Given the description of an element on the screen output the (x, y) to click on. 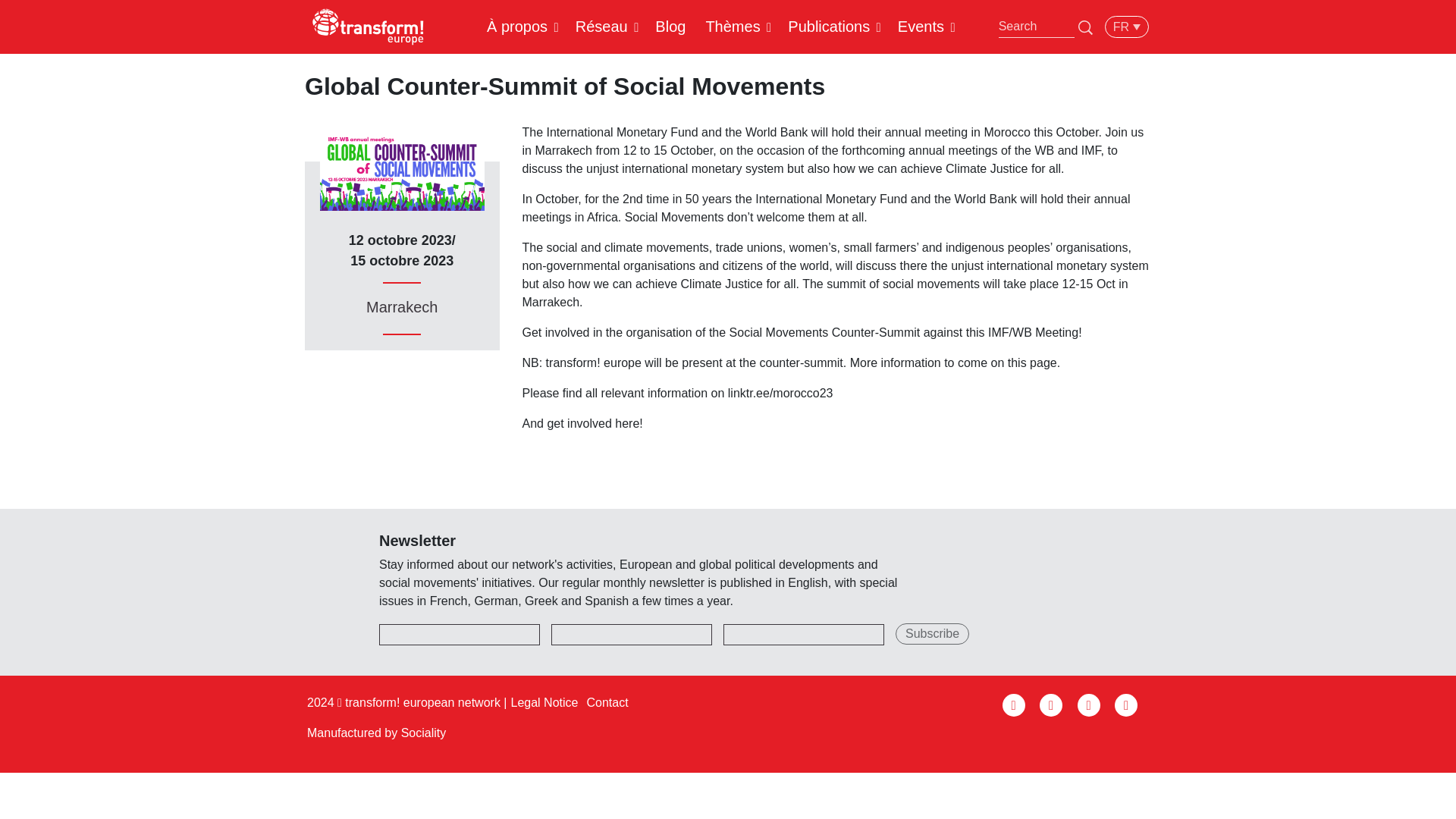
Marrakech (402, 306)
Subscribe (932, 633)
Subscribe (932, 633)
FR (1126, 26)
Blog (670, 26)
Publications (828, 26)
Events (920, 26)
